Given the description of an element on the screen output the (x, y) to click on. 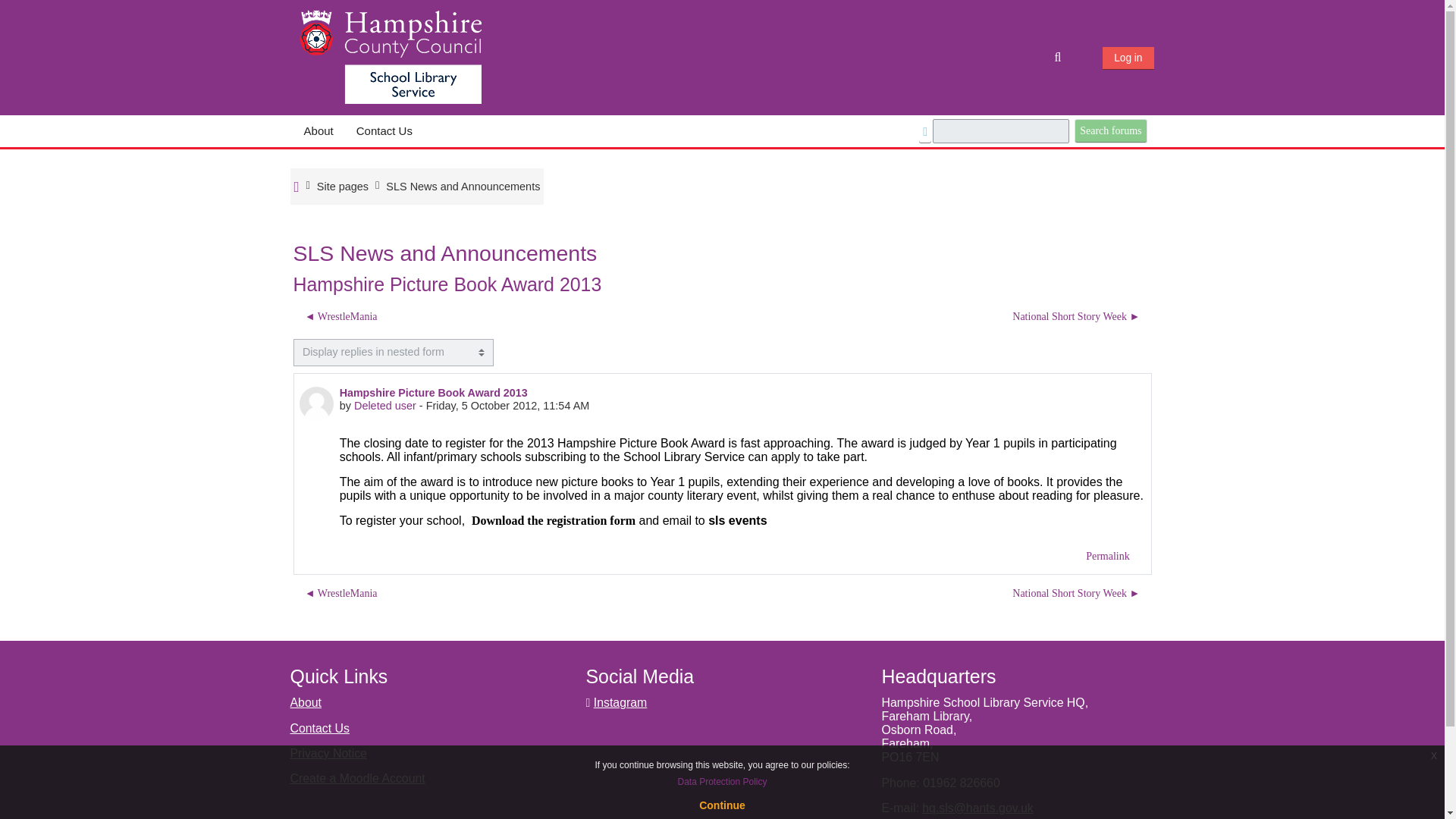
Contact Us (319, 727)
hpba registration form (552, 521)
Instagram (620, 702)
Toggle search input (1058, 57)
sls events (737, 521)
Forum (462, 186)
Search forums (1110, 130)
 Contact Us (384, 131)
About (318, 131)
Deleted user (384, 405)
Hampshire School Library Service (389, 56)
Help with Search (924, 132)
Permanent link to this post (1107, 555)
Continue (721, 805)
SLS News and Announcements (462, 186)
